Given the description of an element on the screen output the (x, y) to click on. 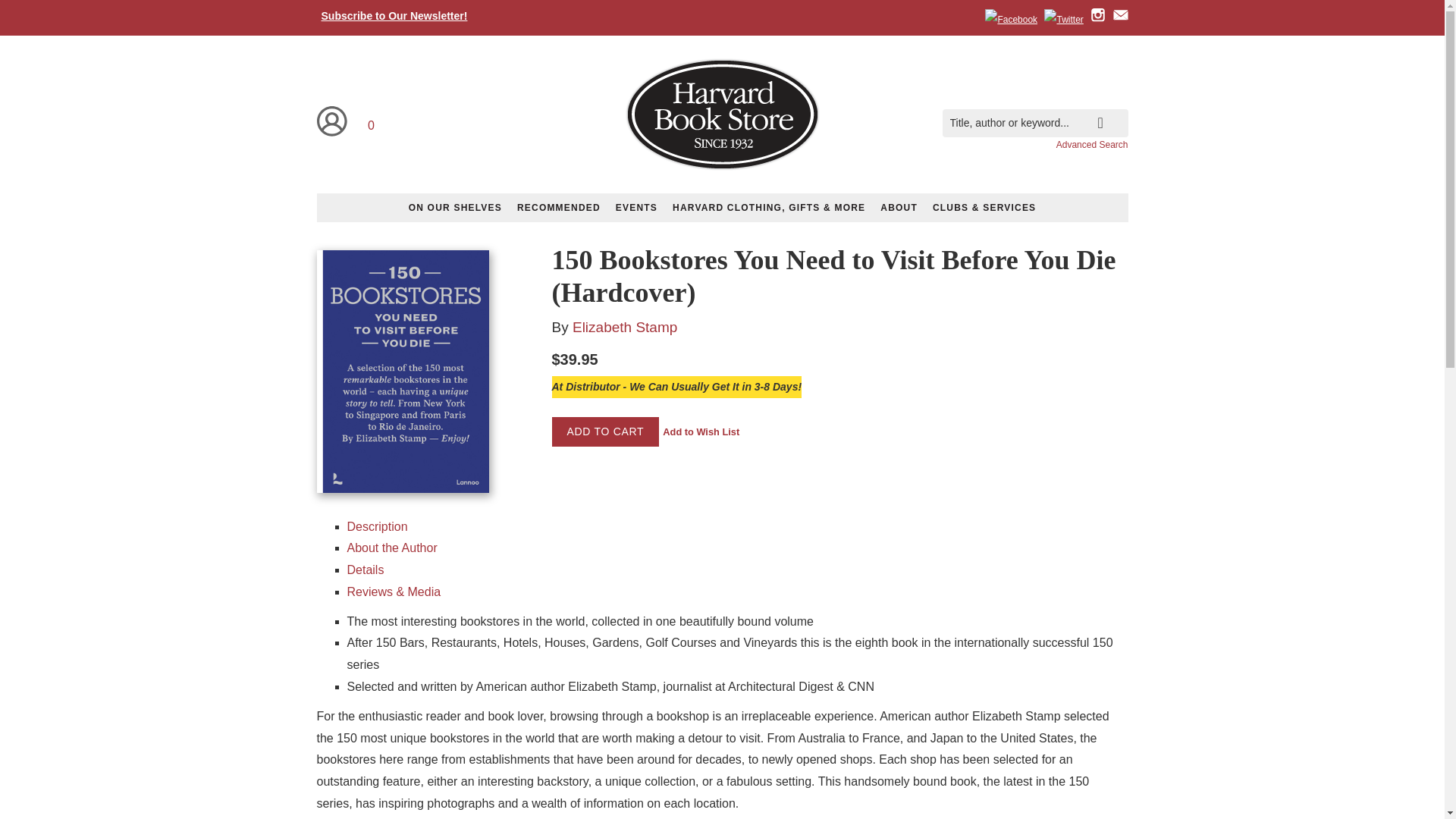
Title, author or keyword... (1034, 122)
Add to Cart (605, 431)
Advanced Search (1092, 144)
RECOMMENDED (558, 207)
ON OUR SHELVES (455, 207)
ABOUT (898, 207)
search (1112, 110)
Home (721, 116)
EVENTS (636, 207)
Cart (371, 121)
Subscribe to Our Newsletter! (394, 15)
search (1112, 110)
My Account (332, 121)
